Given the description of an element on the screen output the (x, y) to click on. 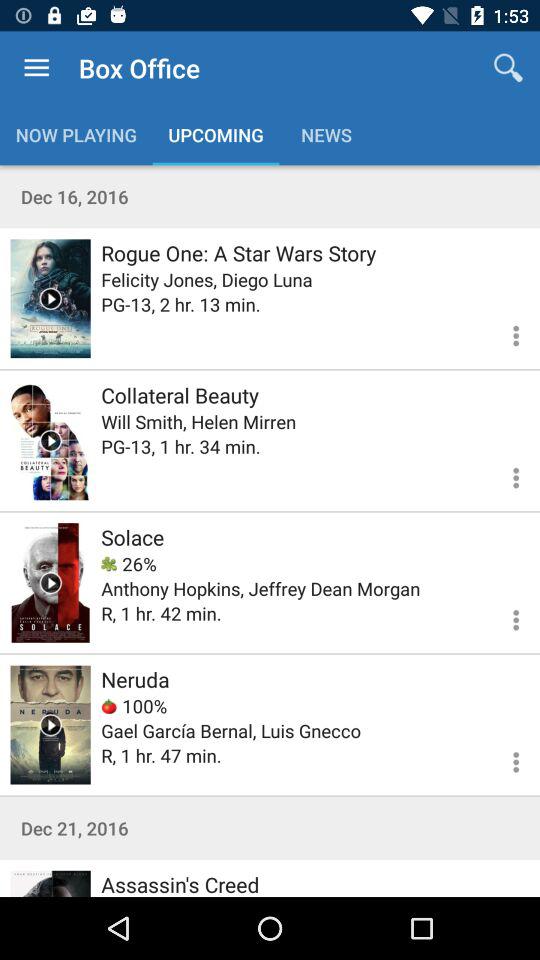
play video (50, 298)
